Given the description of an element on the screen output the (x, y) to click on. 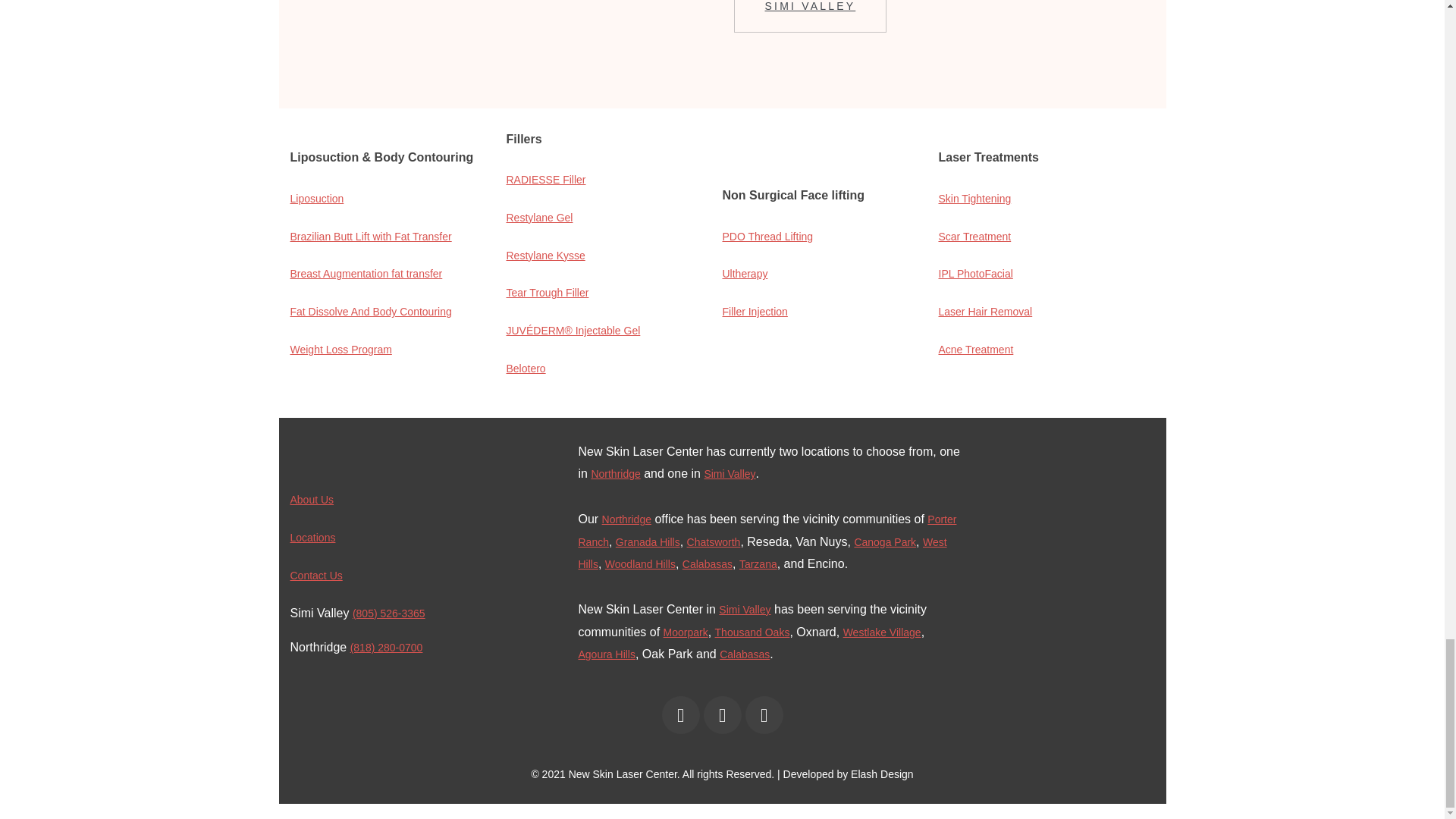
botox Thousand Oaks (752, 632)
botox Agoura Hills (606, 654)
botox simi valley (744, 609)
botox simi valley (729, 473)
botox Granada Hills (647, 541)
botox northridge (615, 473)
botox Tarzana (758, 563)
botox Westlake Village (882, 632)
botox Chatsworth (714, 541)
botox Calabasas (707, 563)
